Given the description of an element on the screen output the (x, y) to click on. 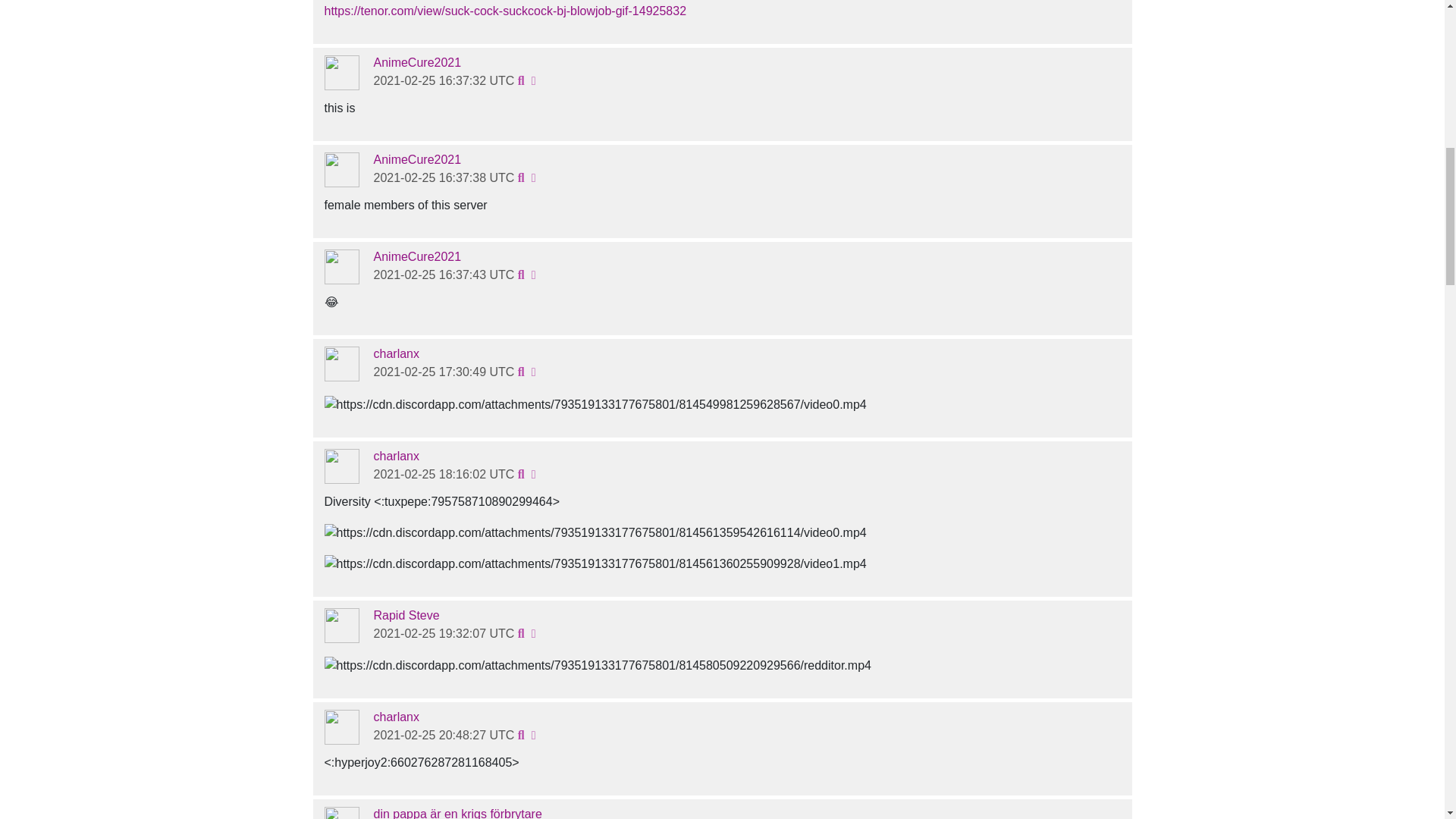
AnimeCure2021 (416, 62)
AnimeCure2021 (416, 159)
